Given the description of an element on the screen output the (x, y) to click on. 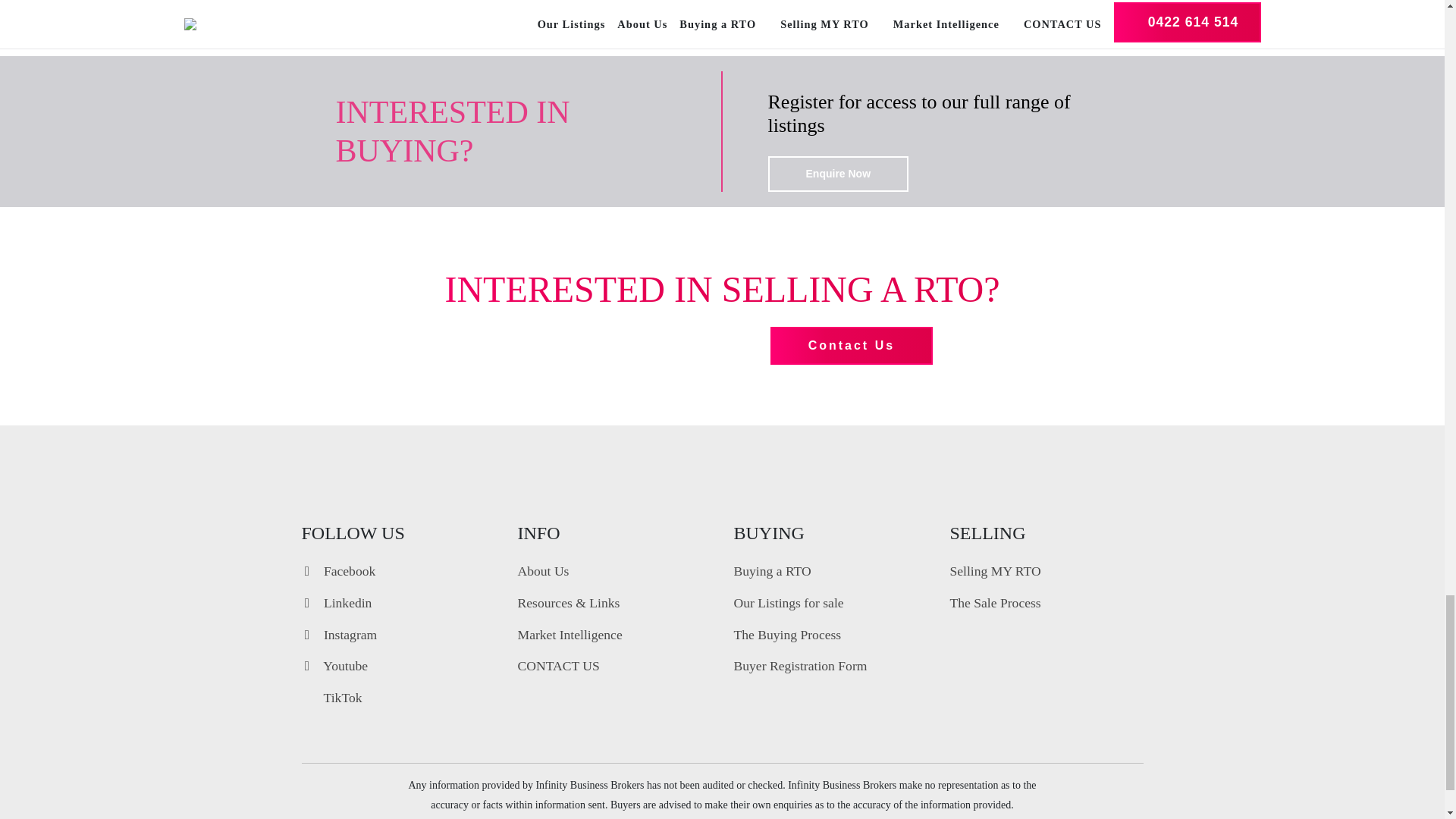
Linkedin (336, 602)
Our Listings for sale (788, 602)
Facebook (338, 570)
Contact Us (851, 345)
Buying a RTO (771, 570)
About Us (542, 570)
Market Intelligence (568, 633)
Enquire Now (837, 173)
Contact Us (851, 345)
TikTok (331, 697)
Instagram (339, 633)
Enquire Now (837, 173)
Youtube (334, 665)
CONTACT US (557, 665)
